Given the description of an element on the screen output the (x, y) to click on. 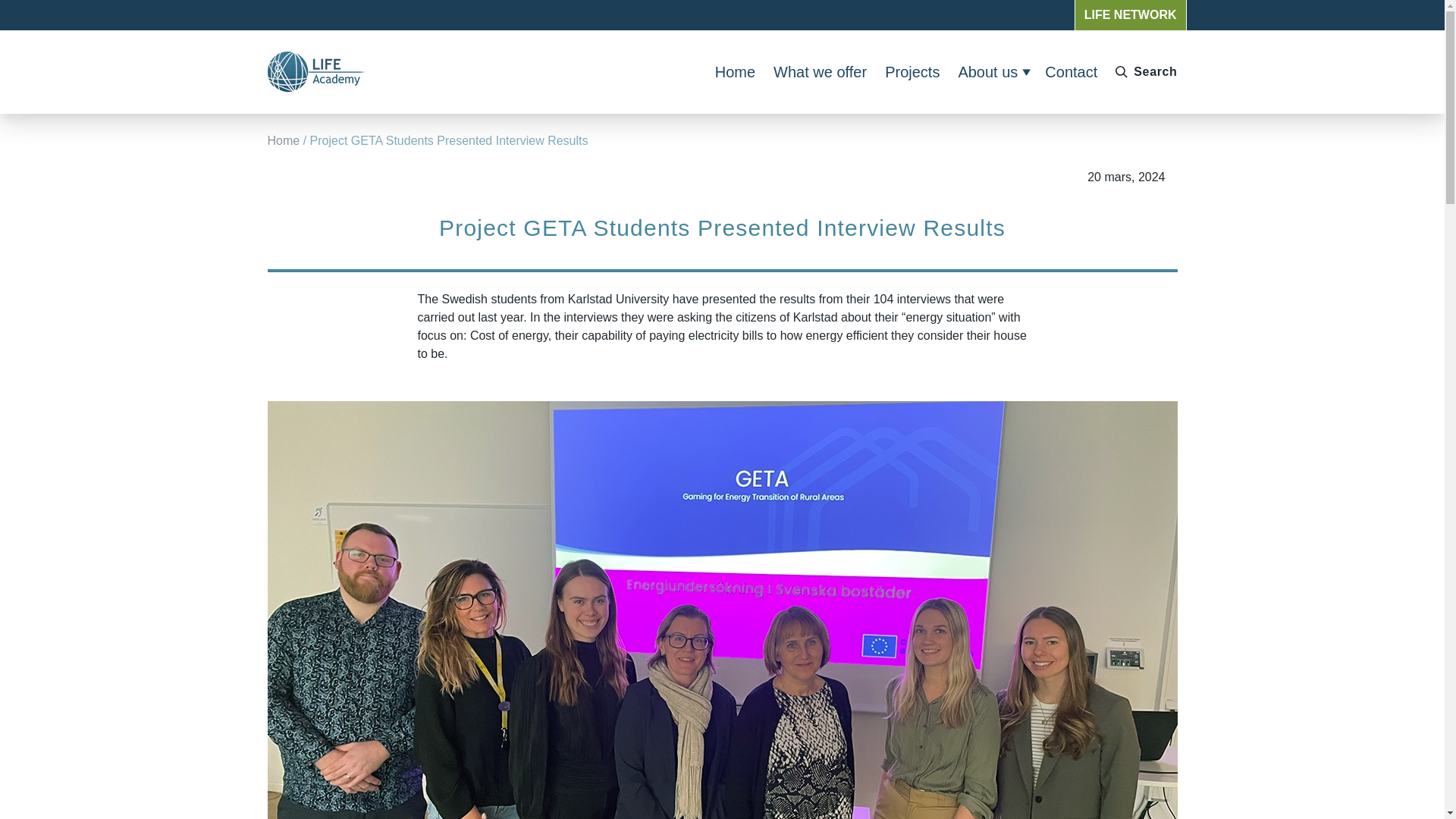
Projects (912, 71)
Home (282, 140)
Home (734, 71)
LIFE NETWORK (1130, 14)
About us (992, 71)
Search (1142, 71)
Home (320, 71)
Contact (1071, 71)
What we offer (819, 71)
